Given the description of an element on the screen output the (x, y) to click on. 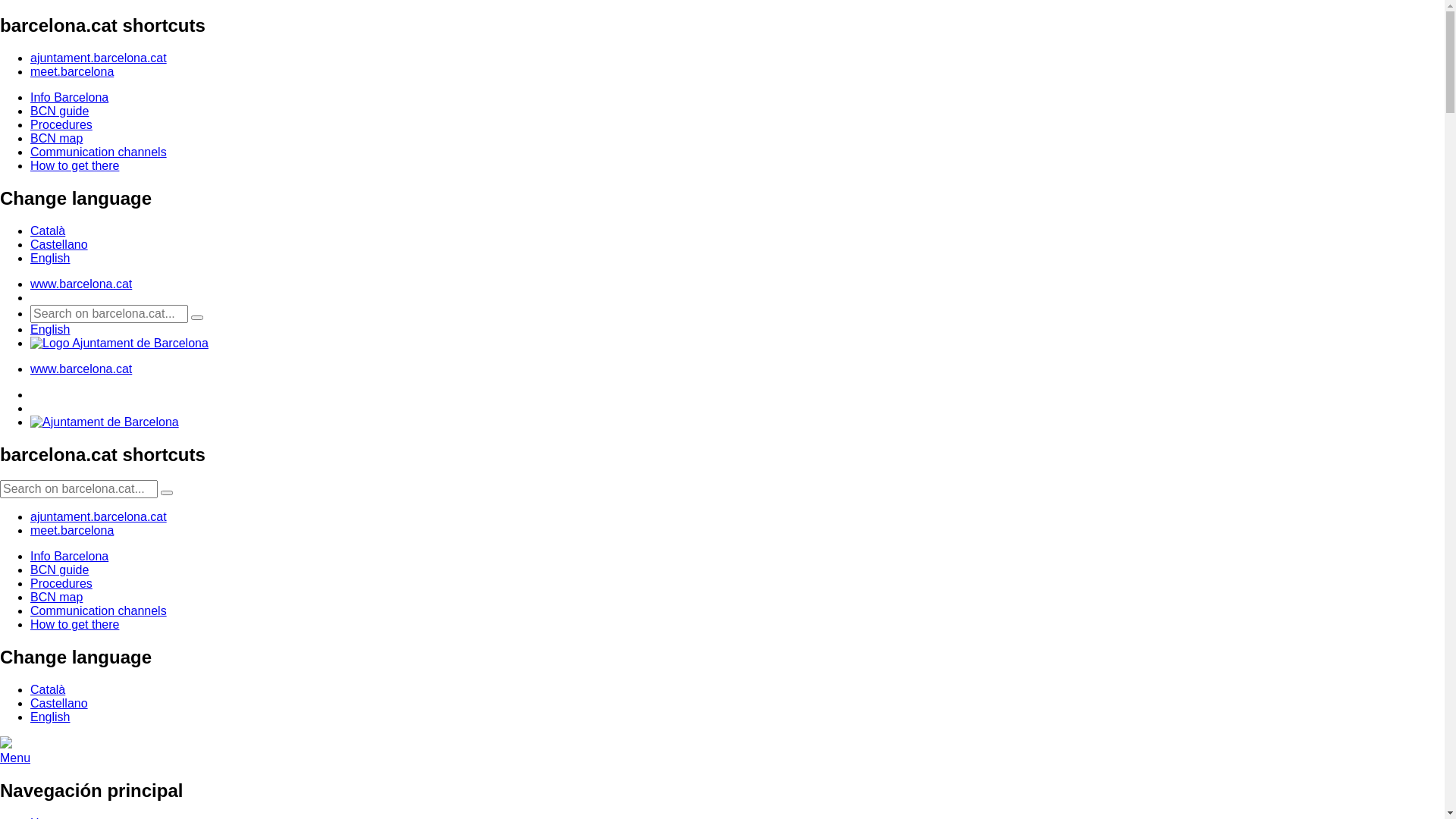
Castellano Element type: text (58, 702)
BCN guide Element type: text (59, 569)
Menu Element type: text (15, 757)
Castellano Element type: text (58, 244)
English Element type: text (49, 257)
How to get there Element type: text (74, 165)
Communication channels Element type: text (98, 151)
English Element type: text (49, 716)
meet.barcelona Element type: text (71, 71)
Communication channels Element type: text (98, 610)
meet.barcelona Element type: text (71, 530)
BCN guide Element type: text (59, 110)
www.barcelona.cat Element type: text (80, 283)
ajuntament.barcelona.cat Element type: text (98, 57)
English Element type: text (49, 329)
BCN map Element type: text (56, 137)
Info Barcelona Element type: text (69, 97)
Info Barcelona Element type: text (69, 555)
ajuntament.barcelona.cat Element type: text (98, 516)
How to get there Element type: text (74, 624)
Procedures Element type: text (61, 583)
BCN map Element type: text (56, 596)
www.barcelona.cat Element type: text (80, 368)
Procedures Element type: text (61, 124)
